Given the description of an element on the screen output the (x, y) to click on. 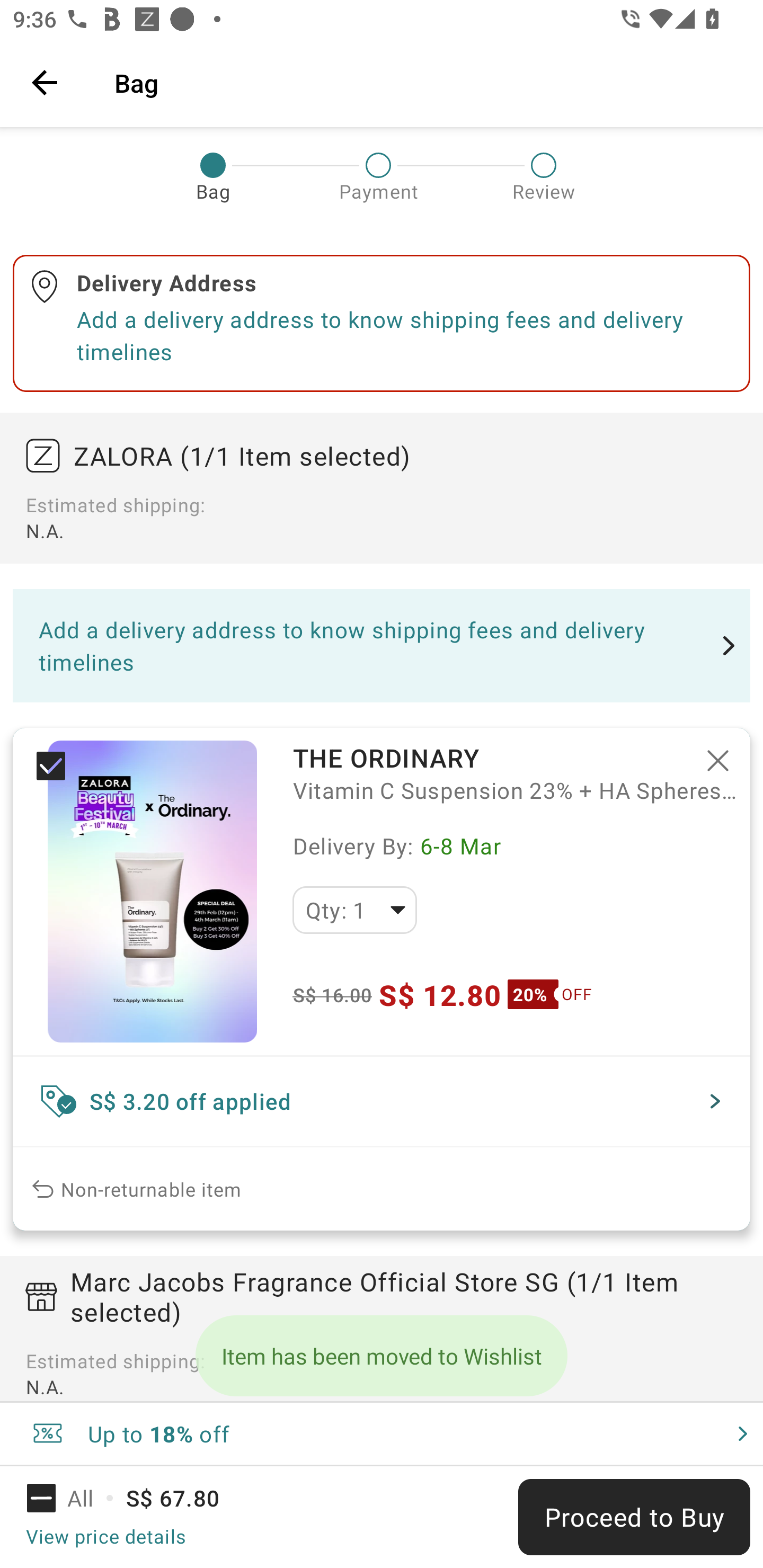
Navigate up (44, 82)
Bag (426, 82)
Qty: 1 (354, 909)
S$ 3.20 off applied (381, 1101)
Up to 18% off (381, 1433)
All (72, 1497)
Proceed to Buy (634, 1516)
View price details (105, 1535)
